Given the description of an element on the screen output the (x, y) to click on. 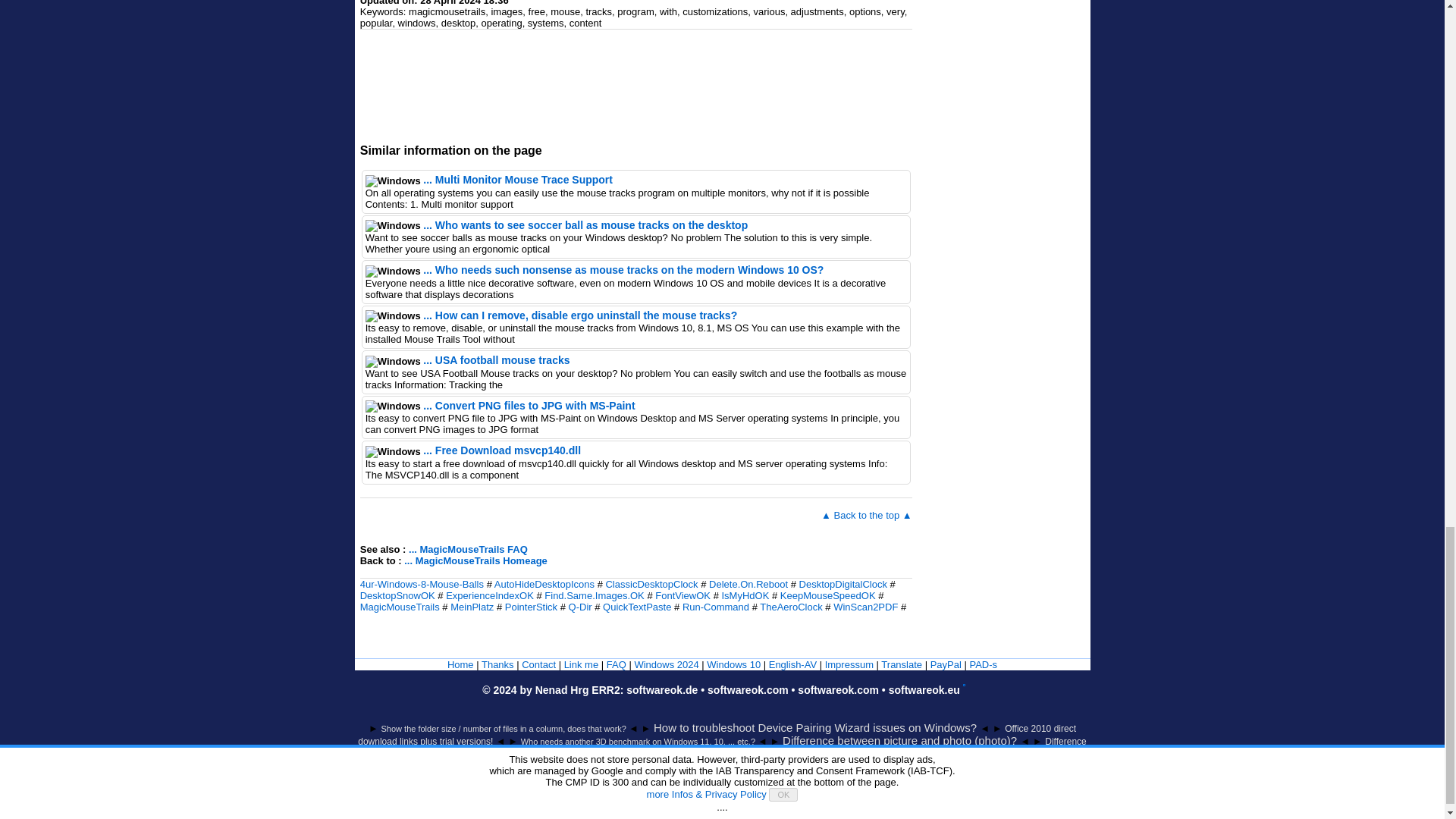
ExperienceIndexOK  (489, 595)
MagicMouseTrails  (399, 606)
ExperienceIndexOK (489, 595)
DesktopSnowOK (397, 595)
... MagicMouseTrails Homeage (475, 560)
... Convert PNG files to JPG with MS-Paint (528, 405)
4ur-Windows-8-Mouse-Balls  (421, 583)
ClassicDesktopClock  (651, 583)
4ur-Windows-8-Mouse-Balls (421, 583)
DesktopDigitalClock  (842, 583)
ClassicDesktopClock (651, 583)
Convert PNG files to JPG with MS-Paint (528, 405)
